Given the description of an element on the screen output the (x, y) to click on. 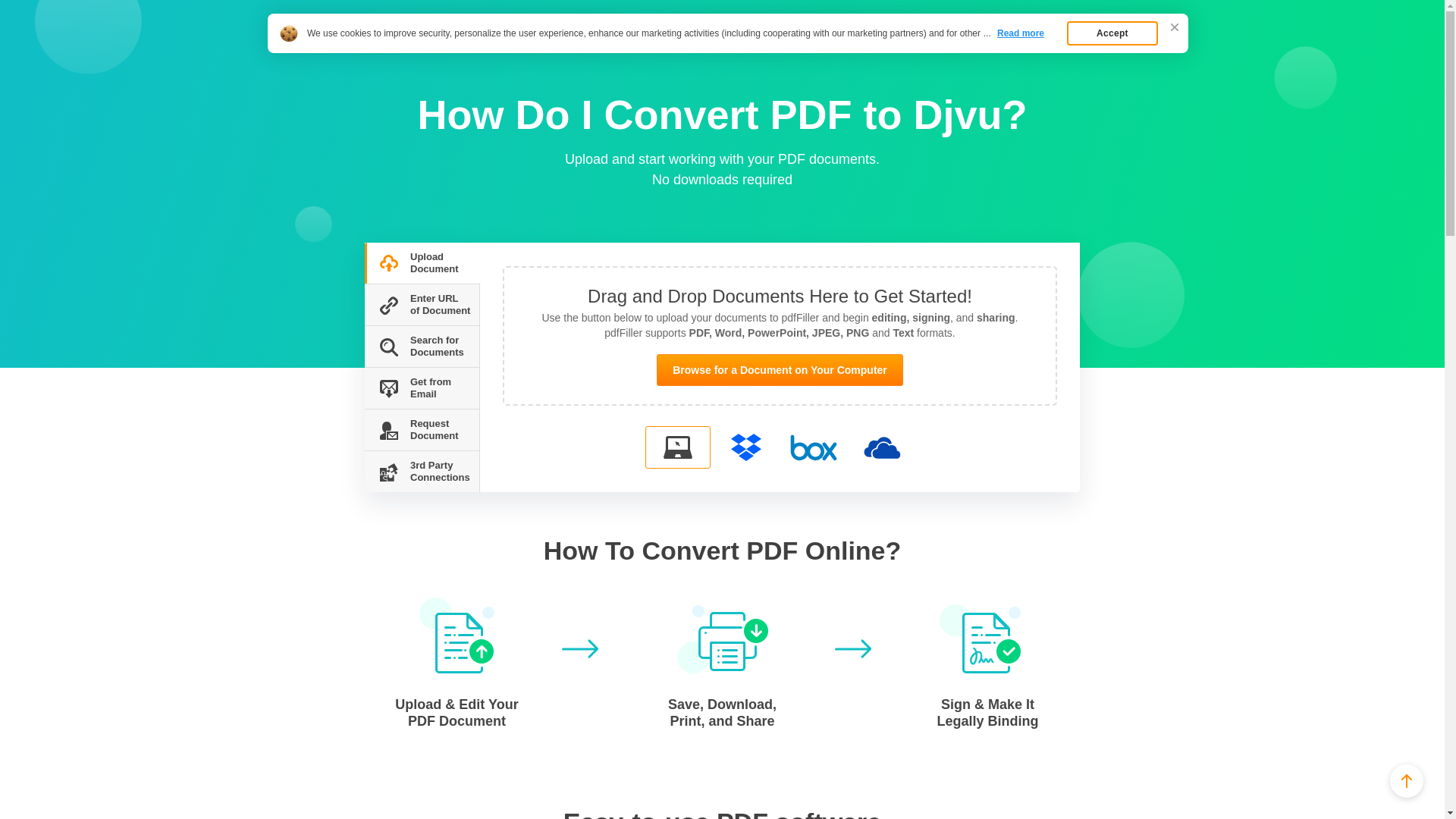
Change PDF Text (403, 21)
FAQ (398, 46)
Home (361, 46)
Scroll Up (1406, 780)
